Given the description of an element on the screen output the (x, y) to click on. 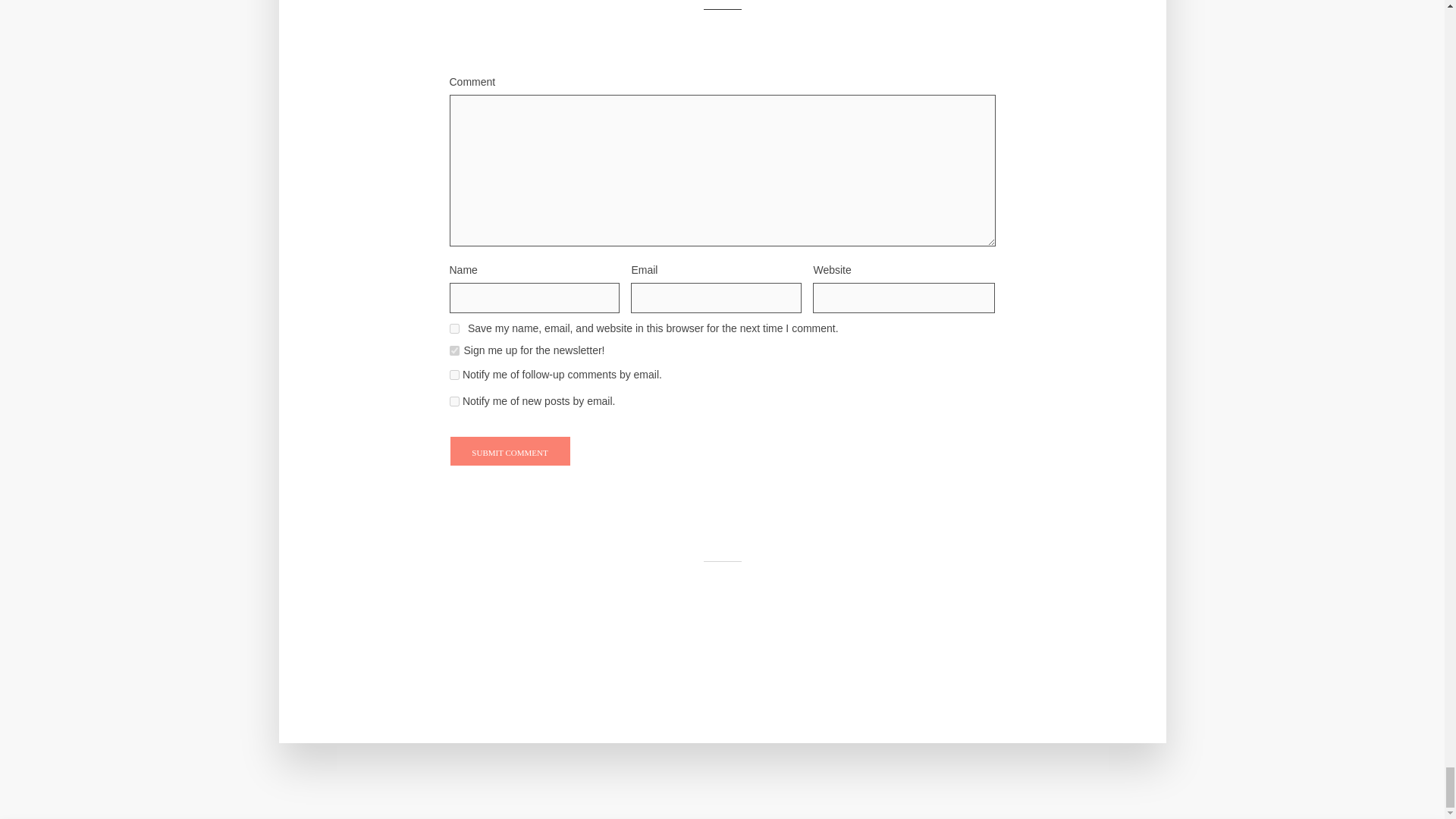
Submit Comment (509, 450)
yes (453, 328)
1 (453, 350)
subscribe (453, 375)
subscribe (453, 401)
Submit Comment (509, 450)
